Given the description of an element on the screen output the (x, y) to click on. 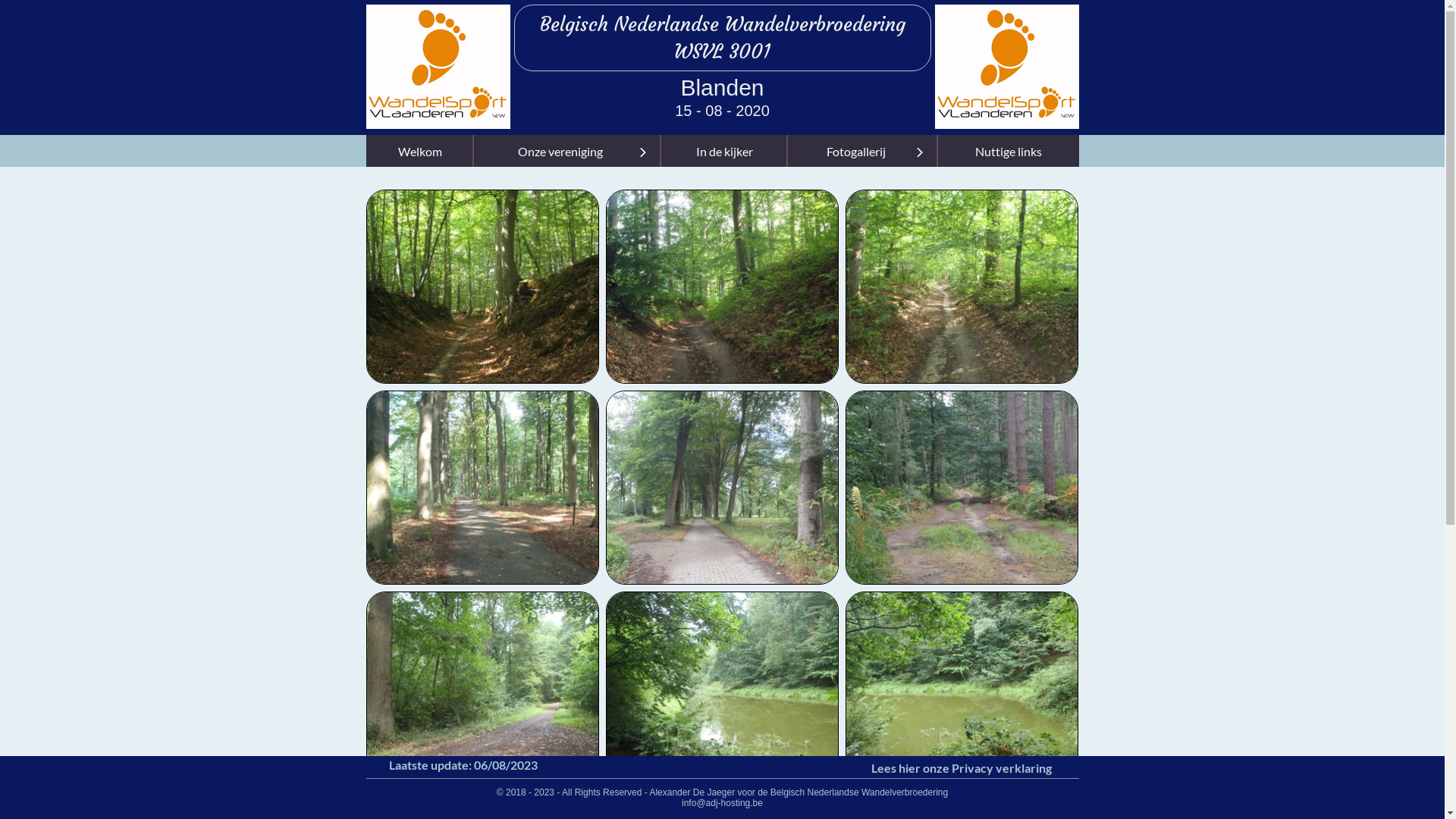
Blanden - 15-08-2020 (14) Element type: hover (481, 487)
Blanden - 15-08-2020 (18) Element type: hover (721, 286)
Blanden - 15-08-2020 (19) Element type: hover (481, 286)
Fotogallerij Element type: text (862, 150)
kogo club Element type: hover (862, 66)
Blanden - 15-08-2020 (12) Element type: hover (961, 487)
Blanden - 15-08-2020 (16) Element type: hover (961, 286)
Blanden - 15-08-2020 (9) Element type: hover (961, 688)
Blanden - 15-08-2020 (9) Element type: hover (961, 688)
kogo club Element type: hover (293, 66)
Blanden - 15-08-2020 (11) Element type: hover (482, 688)
Blanden - 15-08-2020 (16) Element type: hover (961, 286)
wandelsport vlaanderen nieuw Element type: hover (437, 66)
Onze vereniging Element type: text (567, 150)
Blanden - 15-08-2020 (19) Element type: hover (482, 286)
Blanden - 15-08-2020 (13) Element type: hover (721, 487)
Blanden - 15-08-2020 (12) Element type: hover (961, 487)
Welkom Element type: text (419, 150)
Blanden - 15-08-2020 (13) Element type: hover (721, 487)
WSVL 3001 Element type: text (722, 51)
Blanden - 15-08-2020 (18) Element type: hover (721, 286)
Blanden - 15-08-2020 (10) Element type: hover (721, 688)
wandelsport vlaanderen nieuw Element type: hover (1006, 66)
Blanden - 15-08-2020 (14) Element type: hover (482, 487)
Blanden - 15-08-2020 (10) Element type: hover (721, 688)
Belgisch Nederlandse Wandelverbroedering Element type: text (722, 24)
Lees hier onze Privacy verklaring  Element type: text (961, 767)
Blanden - 15-08-2020 (11) Element type: hover (481, 688)
In de kijker Element type: text (724, 150)
Nuttige links Element type: text (1008, 150)
